Given the description of an element on the screen output the (x, y) to click on. 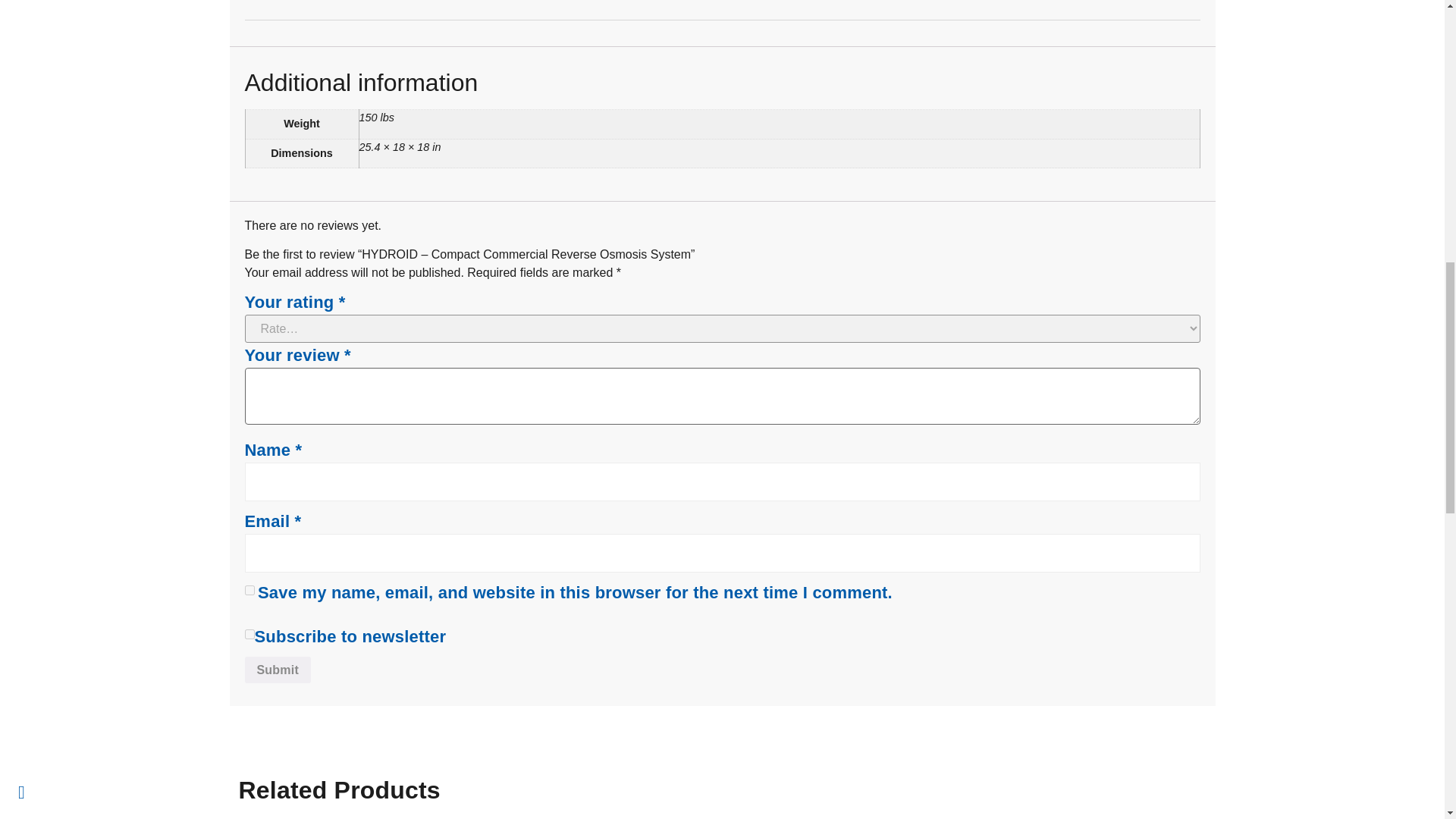
yes (248, 634)
Submit (277, 669)
yes (248, 590)
